Given the description of an element on the screen output the (x, y) to click on. 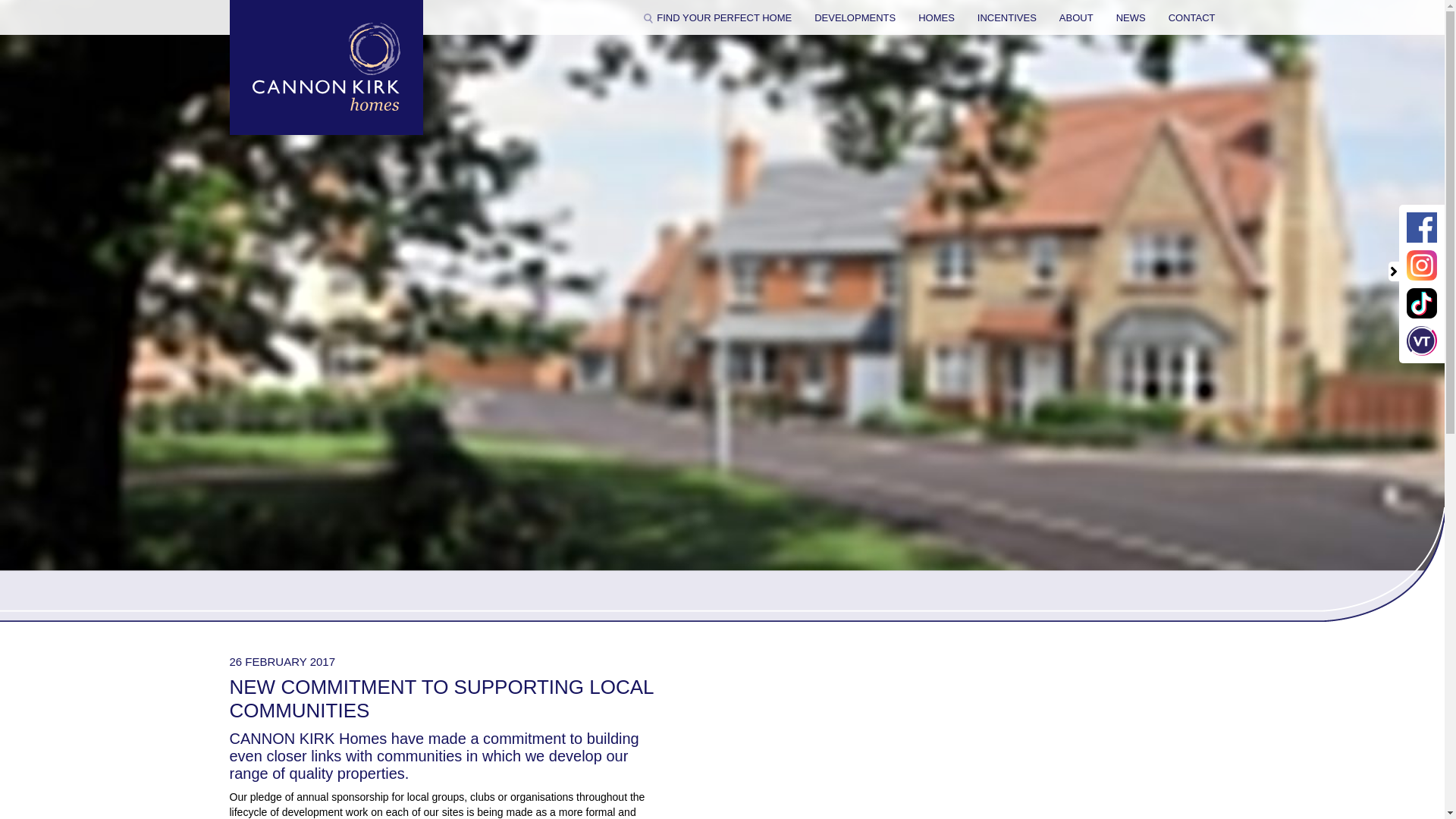
FIND YOUR PERFECT HOME (717, 18)
DEVELOPMENTS (854, 18)
HOMES (936, 18)
